Given the description of an element on the screen output the (x, y) to click on. 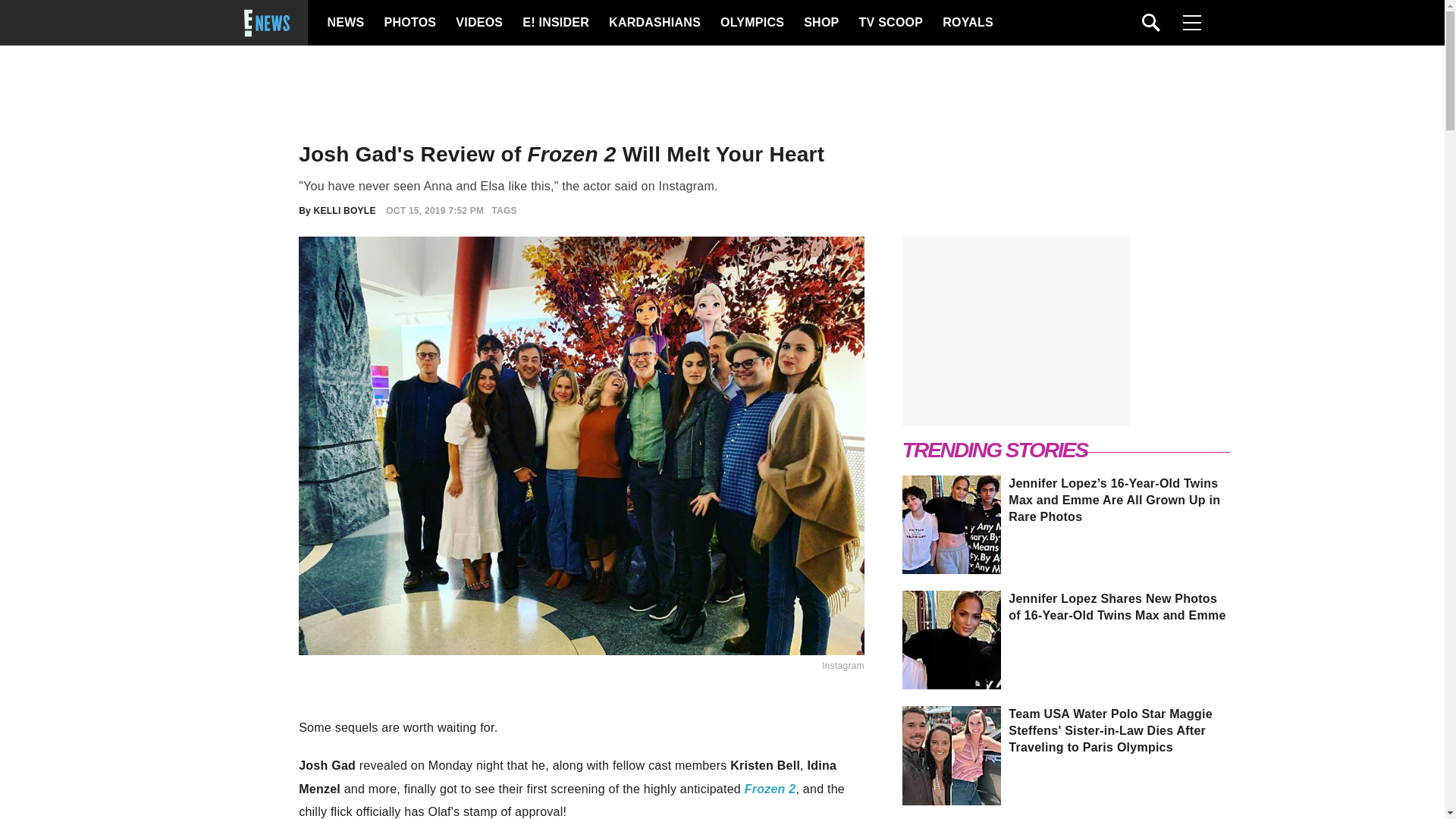
KELLI BOYLE (344, 210)
NEWS (345, 22)
E! INSIDER (555, 22)
VIDEOS (478, 22)
TV SCOOP (890, 22)
OLYMPICS (751, 22)
ROYALS (966, 22)
KARDASHIANS (653, 22)
SHOP (820, 22)
Frozen 2 (770, 788)
PHOTOS (408, 22)
